Given the description of an element on the screen output the (x, y) to click on. 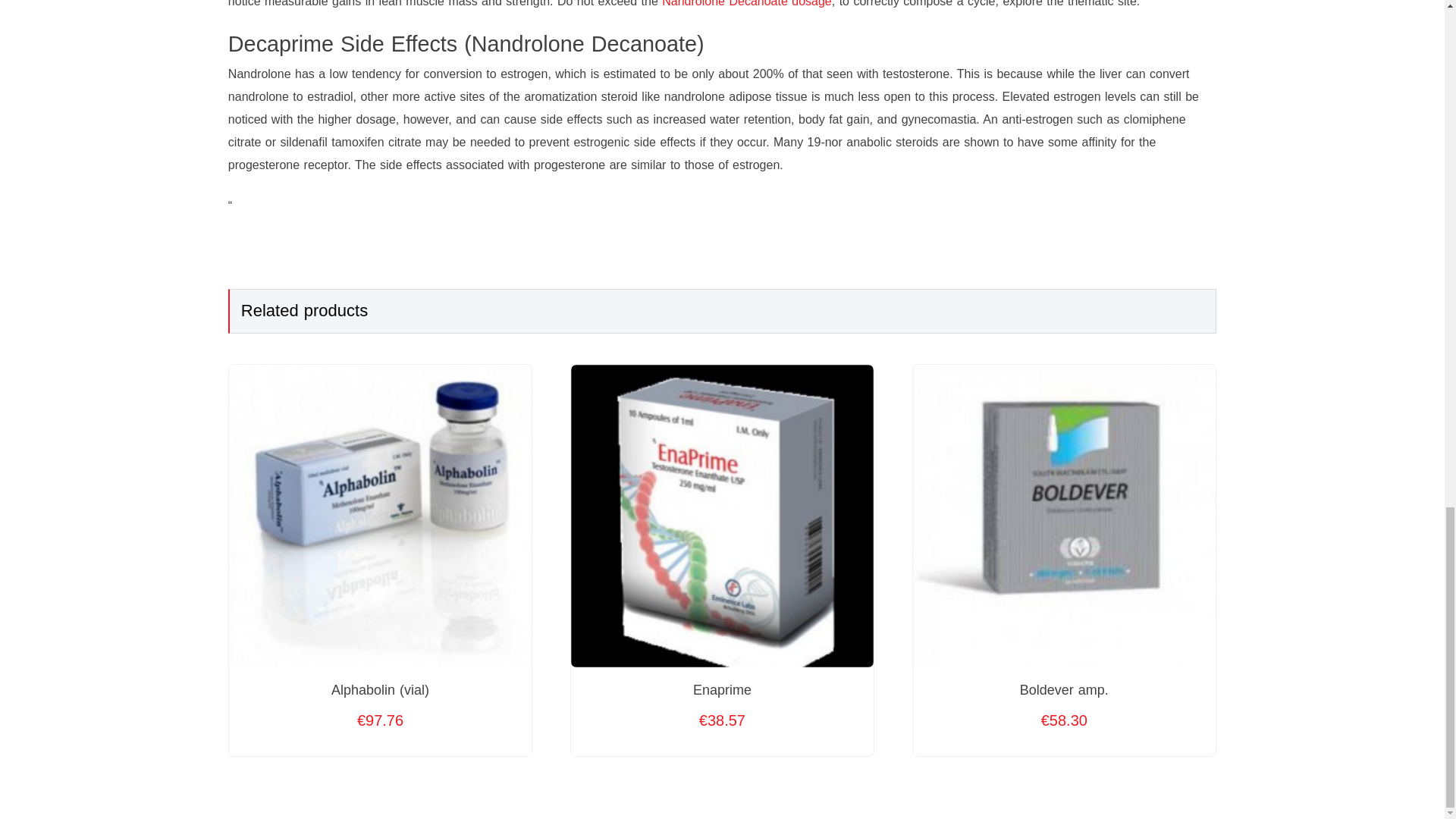
Nandrolone Decanoate dosage (746, 3)
